Given the description of an element on the screen output the (x, y) to click on. 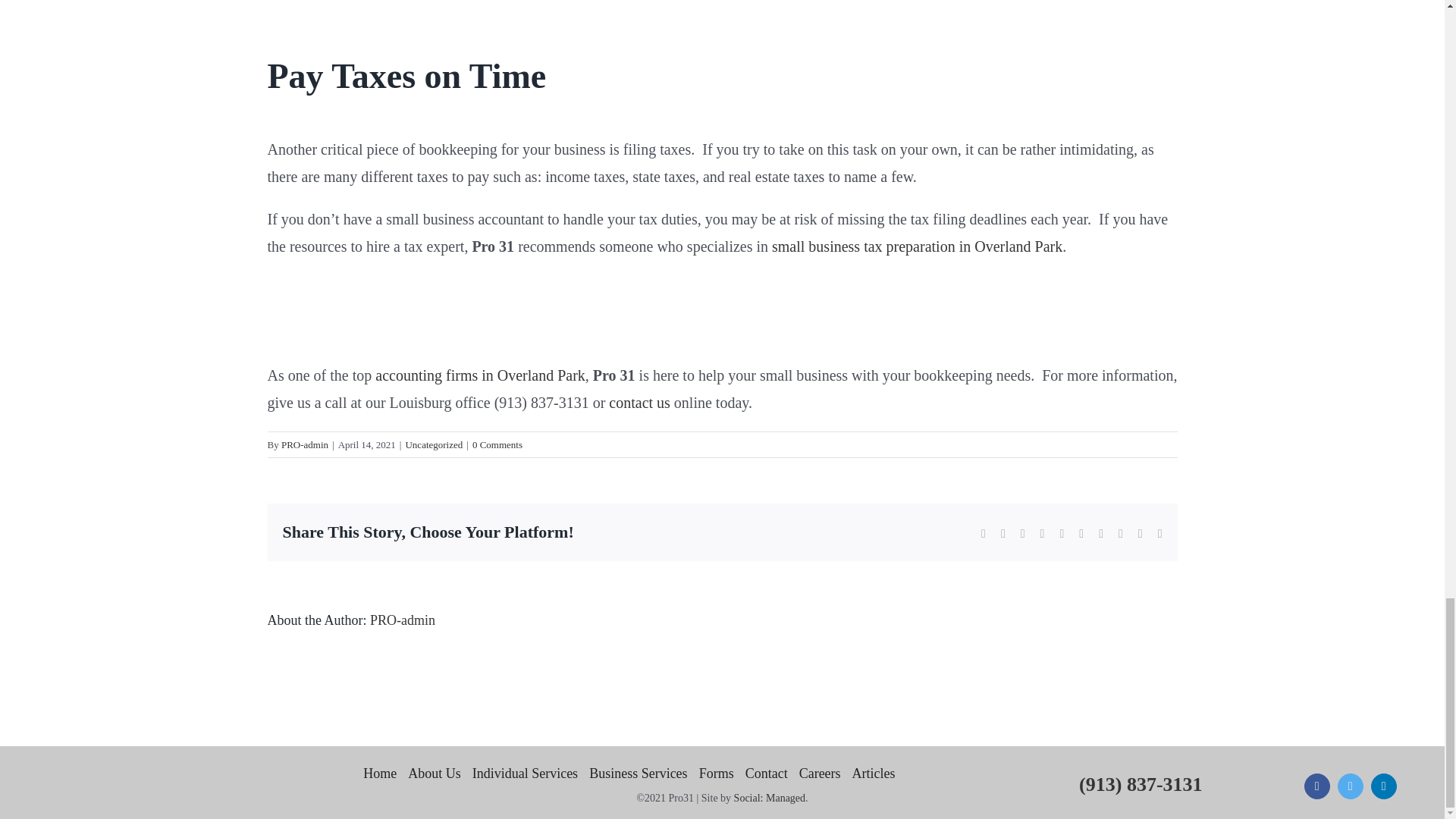
Posts by PRO-admin (402, 620)
Posts by PRO-admin (305, 444)
